Given the description of an element on the screen output the (x, y) to click on. 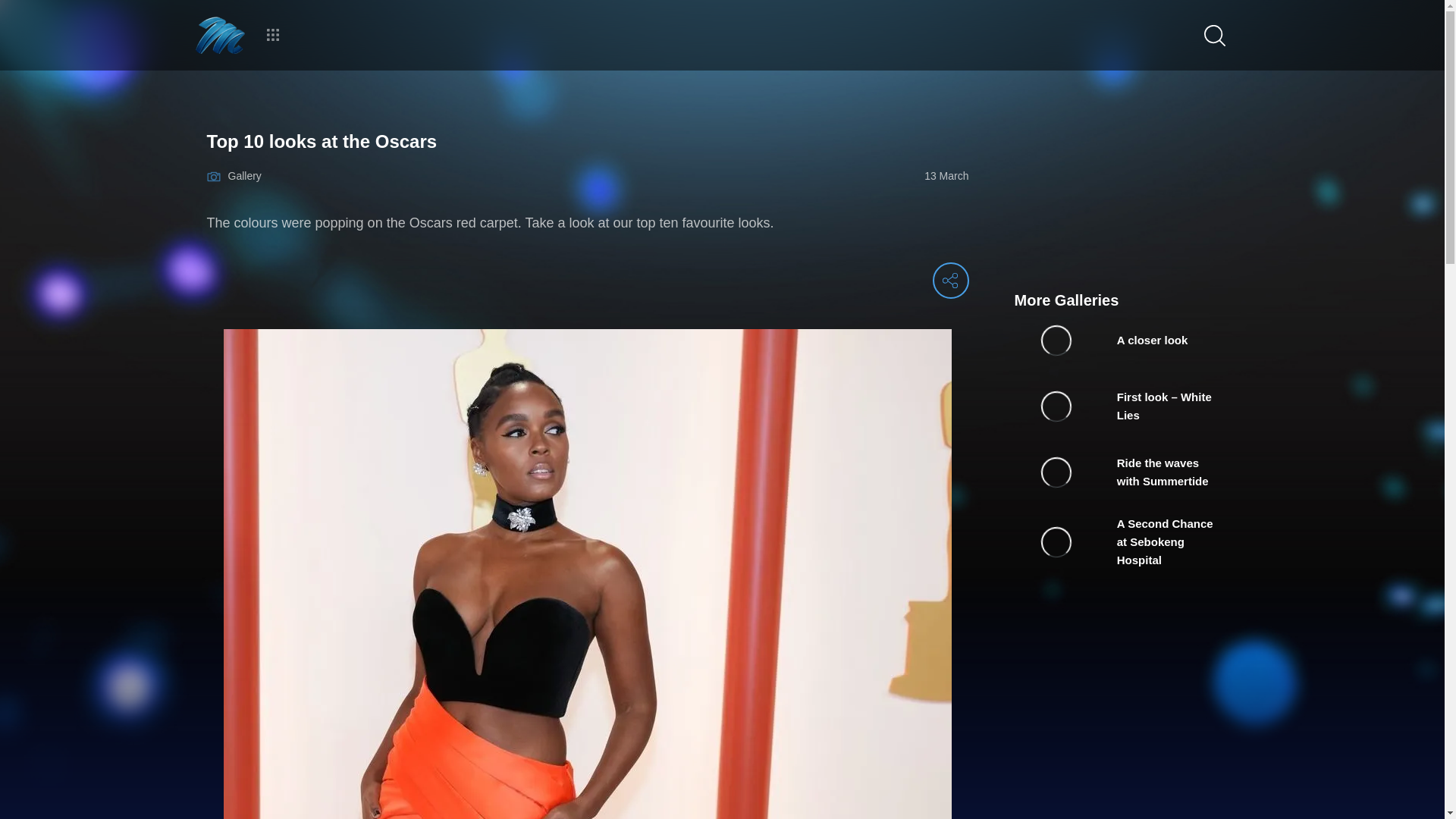
A closer look (1126, 339)
Ride the waves with Summertide (1126, 472)
A Second Chance at Sebokeng Hospital (1126, 542)
